Given the description of an element on the screen output the (x, y) to click on. 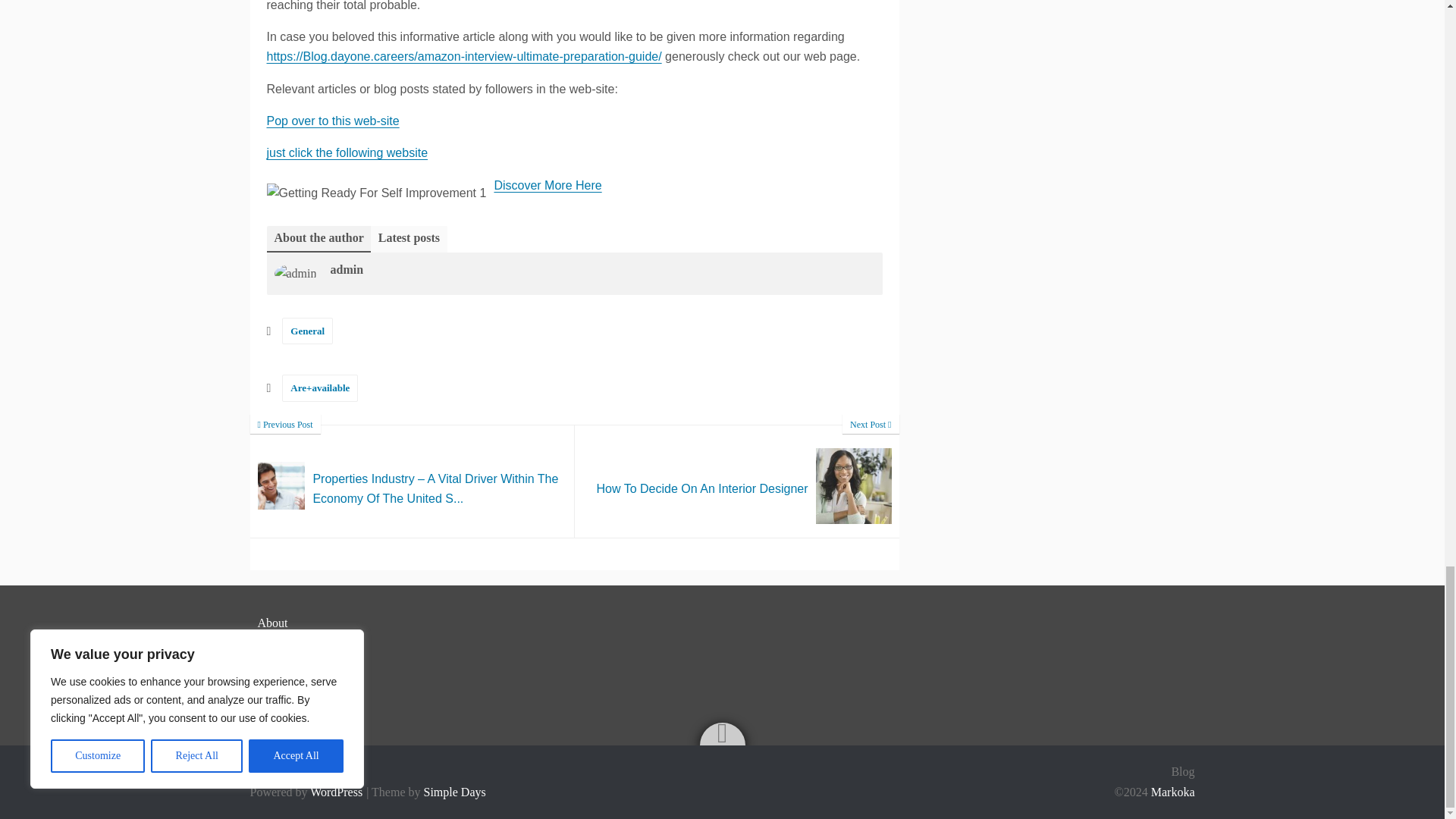
How To Decide On An Interior Designer (737, 481)
Discover More Here (547, 185)
just click the following website (347, 152)
General (307, 330)
Pop over to this web-site (737, 481)
